Given the description of an element on the screen output the (x, y) to click on. 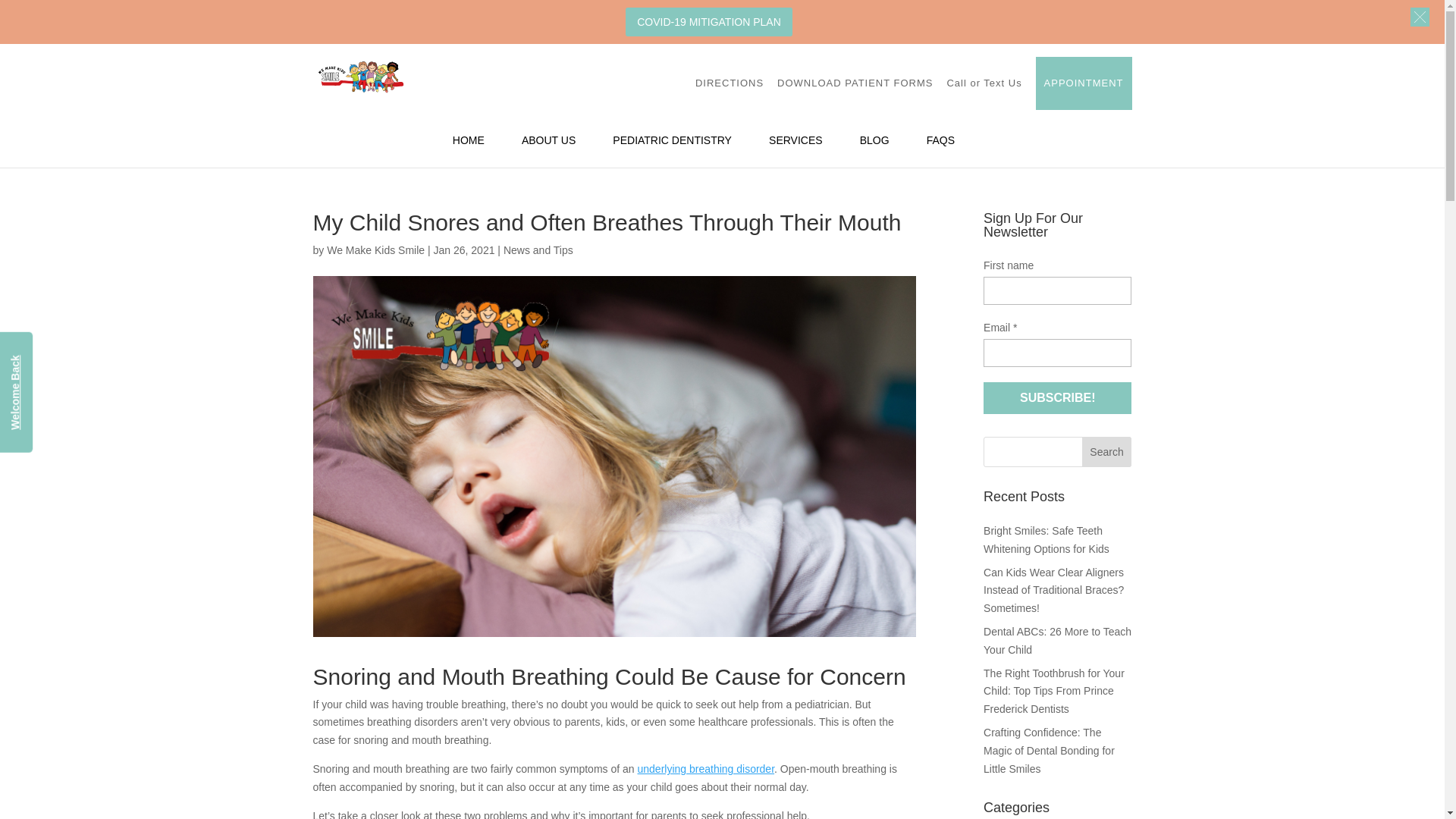
FAQS (940, 151)
APPOINTMENT (1083, 82)
First name (1057, 290)
We Make Kids Smile (375, 250)
ABOUT US (548, 151)
DIRECTIONS (728, 82)
Posts by We Make Kids Smile (375, 250)
Subscribe! (1057, 398)
Submit (1050, 637)
News and Tips (538, 250)
Email (1057, 352)
DOWNLOAD PATIENT FORMS (855, 82)
SERVICES (795, 151)
BLOG (874, 151)
Call or Text Us (984, 82)
